Given the description of an element on the screen output the (x, y) to click on. 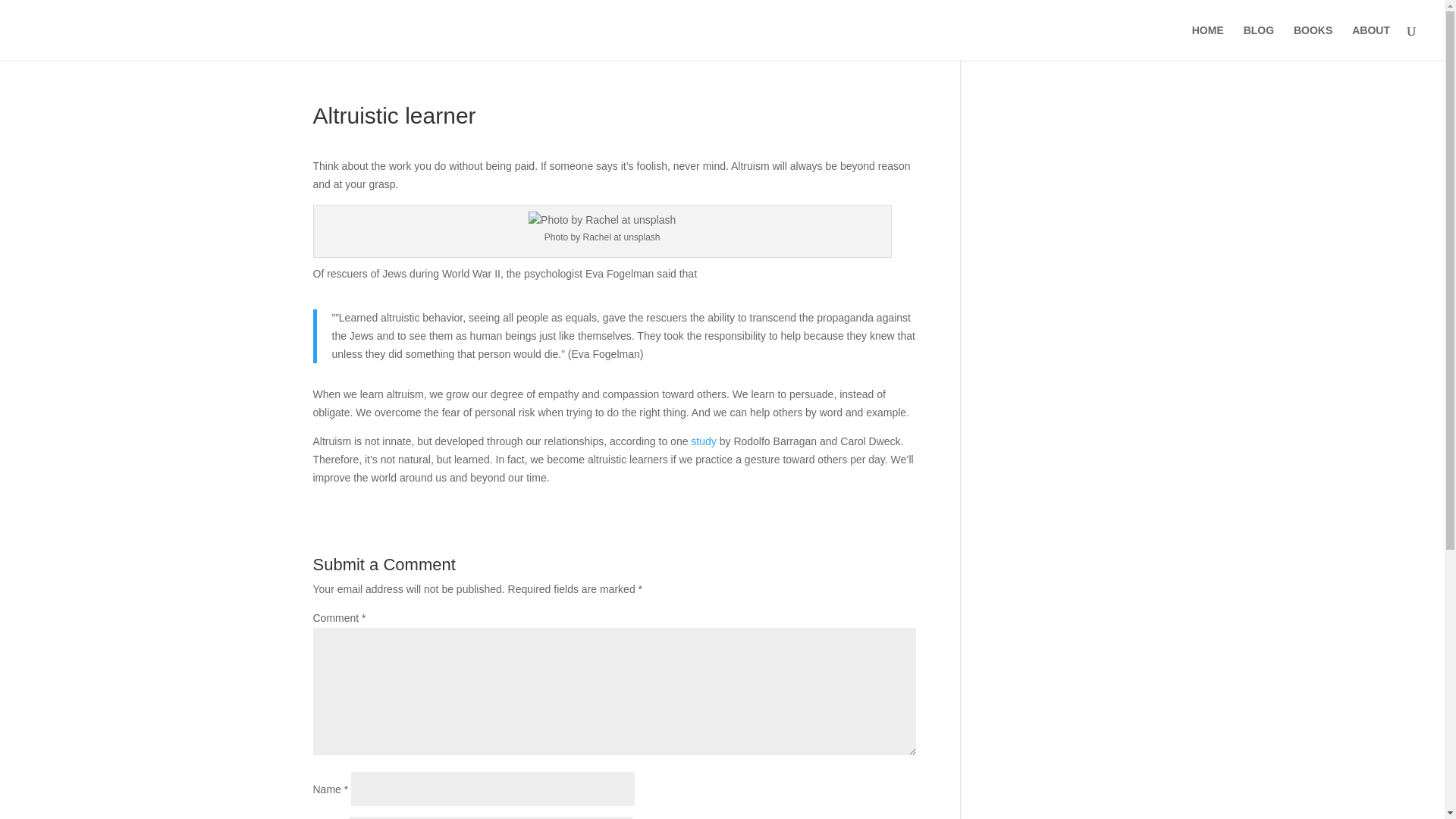
ABOUT (1371, 42)
HOME (1208, 42)
study (703, 440)
BOOKS (1313, 42)
